Given the description of an element on the screen output the (x, y) to click on. 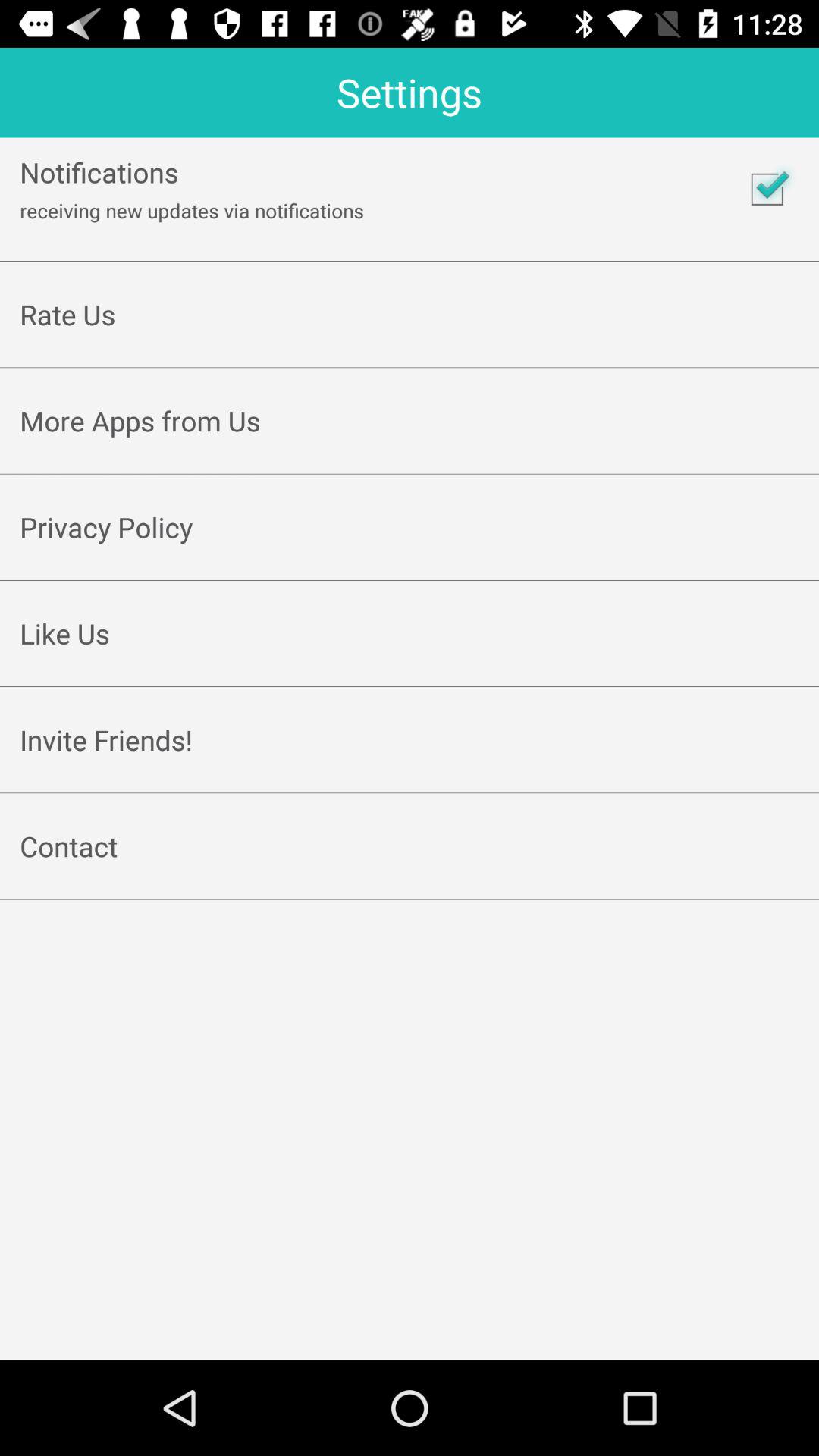
disable notifications (767, 189)
